Given the description of an element on the screen output the (x, y) to click on. 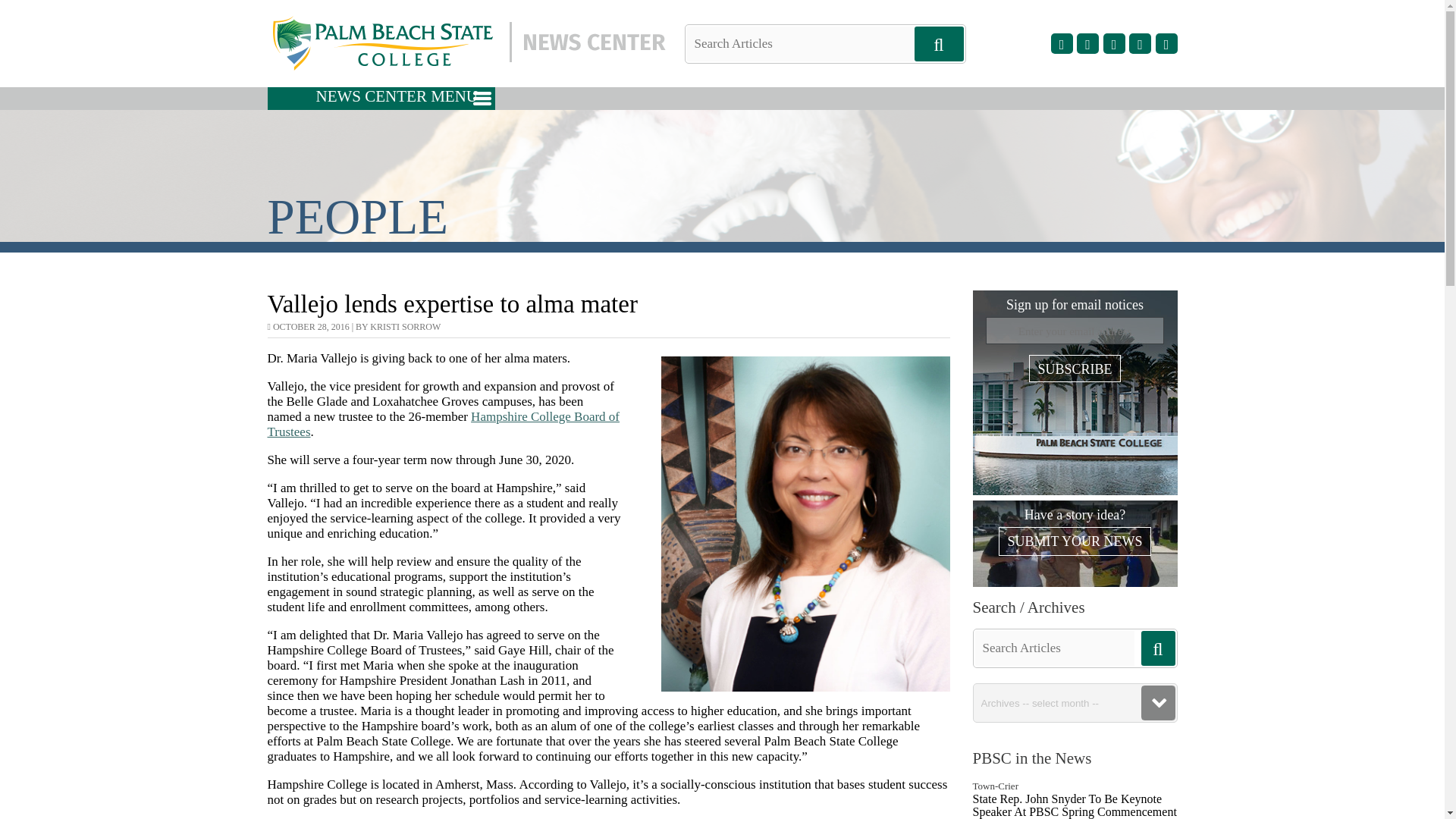
KRISTI SORROW (405, 326)
Hampshire College Board of Trustees (443, 423)
Posts by Kristi Sorrow (405, 326)
Subscribe (1074, 368)
Search (38, 11)
